Given the description of an element on the screen output the (x, y) to click on. 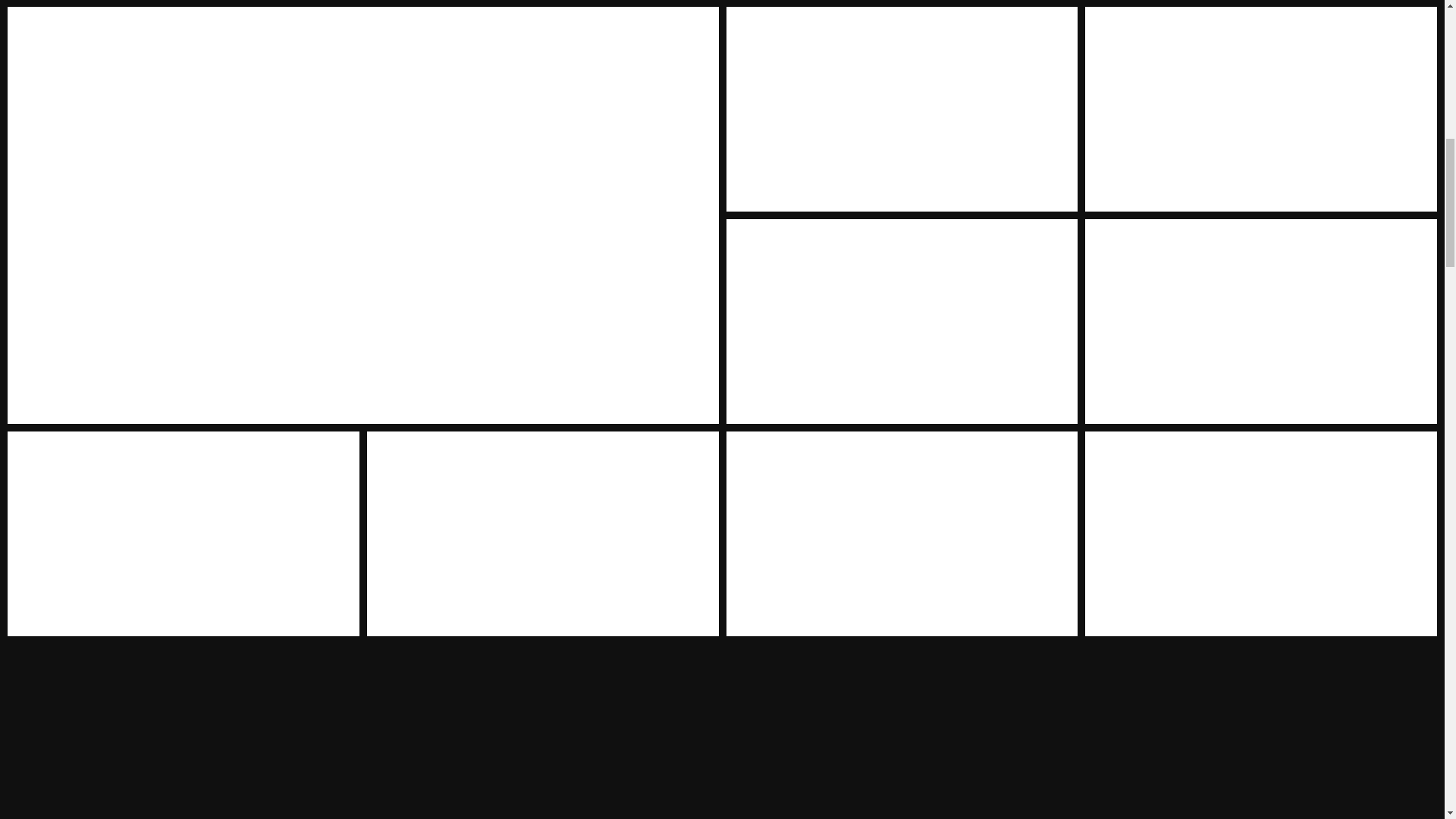
Home 7 (183, 533)
Home 9 (902, 533)
Home 8 (542, 533)
Home 4 (1260, 108)
Home 6 (1260, 321)
Home 3 (902, 108)
Home 10 (1260, 533)
Home 5 (902, 321)
